Given the description of an element on the screen output the (x, y) to click on. 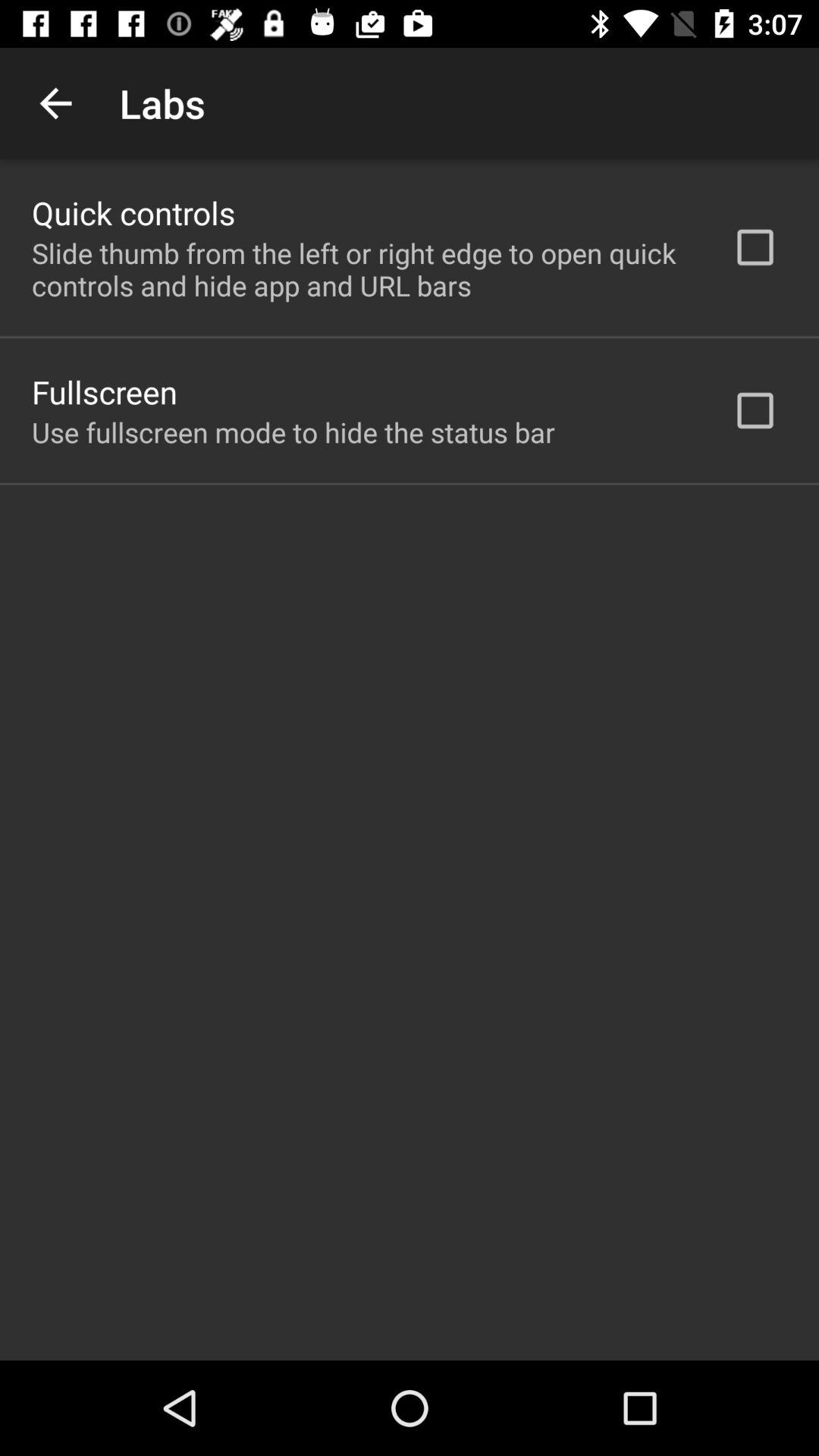
choose slide thumb from item (361, 269)
